Given the description of an element on the screen output the (x, y) to click on. 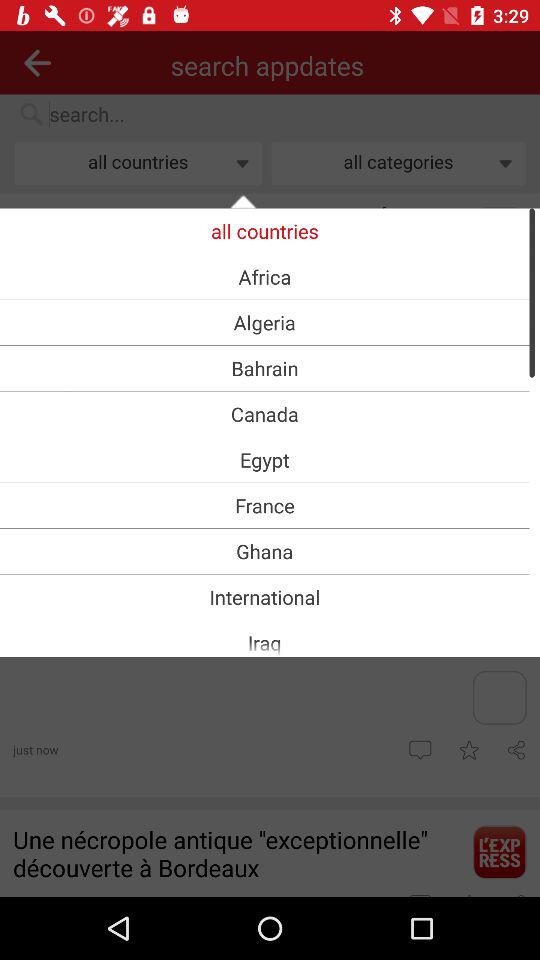
select the icon above the egypt icon (264, 413)
